Given the description of an element on the screen output the (x, y) to click on. 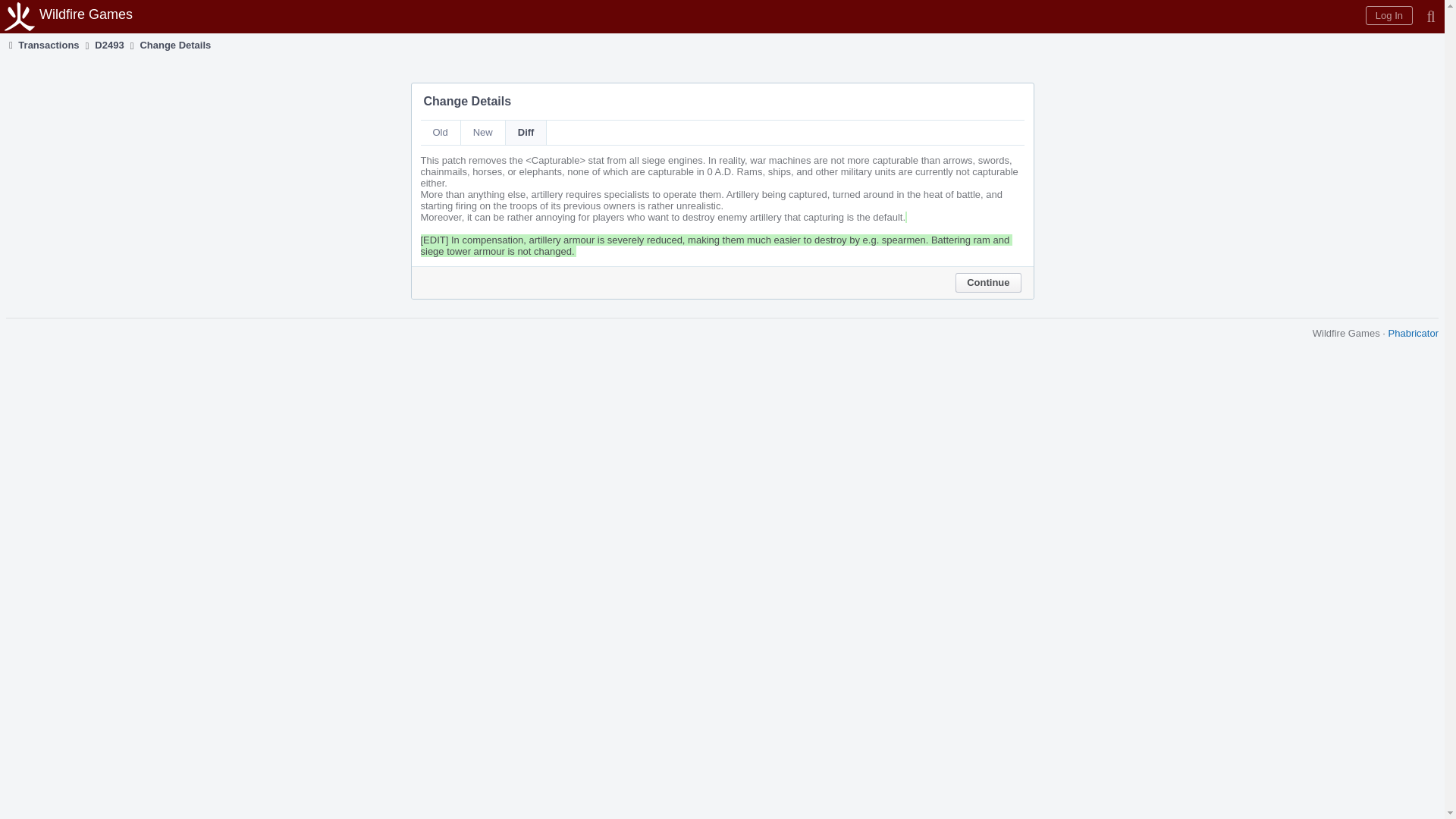
Wildfire Games (70, 16)
Diff (526, 132)
Log In (1388, 15)
New (483, 132)
D2493 (108, 44)
Old (440, 132)
Continue (987, 282)
Phabricator (1413, 333)
